Given the description of an element on the screen output the (x, y) to click on. 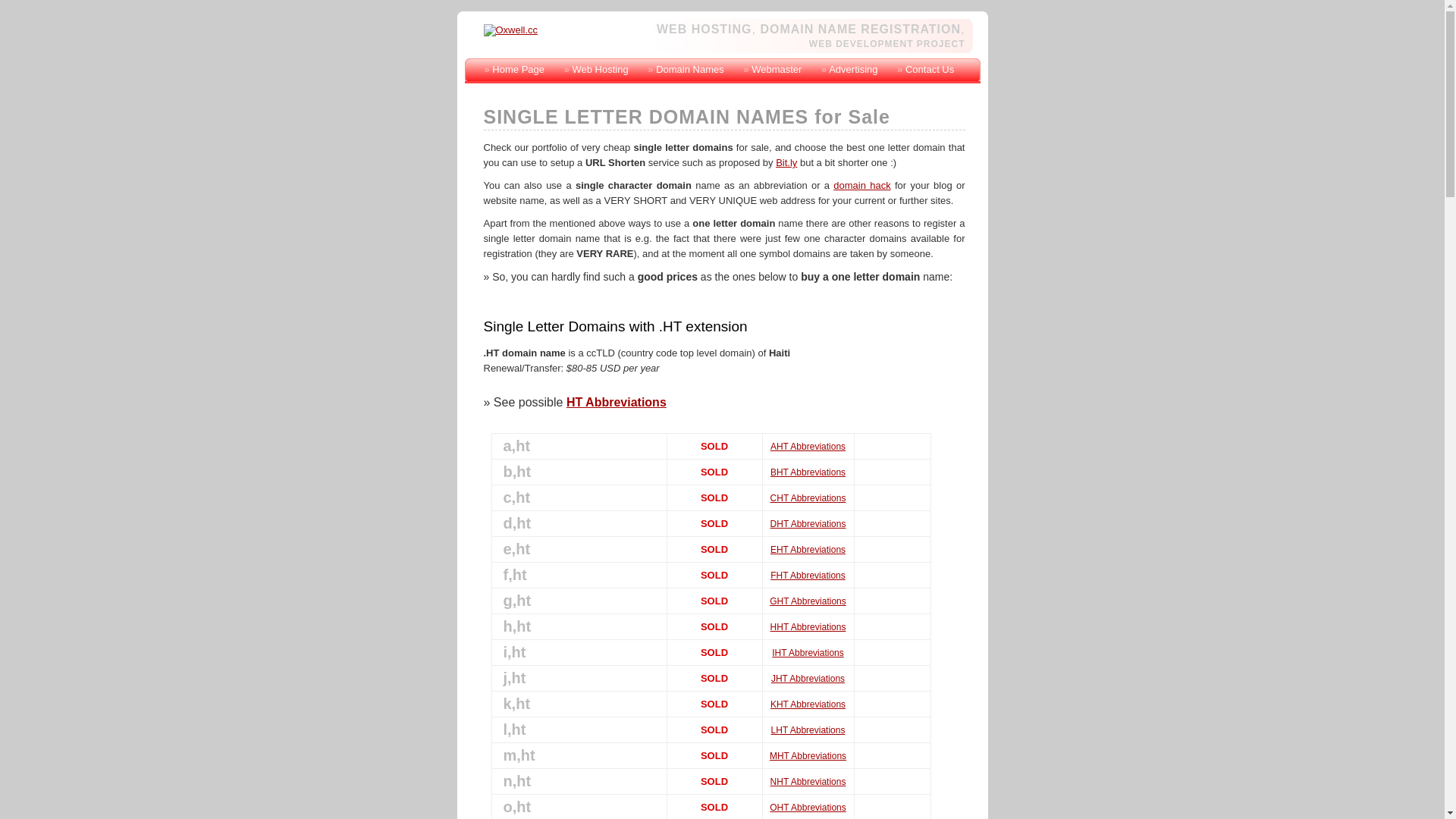
AHT Abbreviations Element type: text (807, 446)
HHT Abbreviations Element type: text (808, 626)
MHT Abbreviations Element type: text (807, 755)
HT Abbreviations Element type: text (616, 401)
BHT Abbreviations Element type: text (807, 472)
Bit.ly Element type: text (786, 162)
LHT Abbreviations Element type: text (808, 729)
Advertising Element type: text (852, 69)
Webmaster Element type: text (776, 69)
JHT Abbreviations Element type: text (807, 678)
OHT Abbreviations Element type: text (807, 807)
CHT Abbreviations Element type: text (808, 497)
GHT Abbreviations Element type: text (807, 601)
Web Hosting Element type: text (599, 69)
domain hack Element type: text (861, 185)
FHT Abbreviations Element type: text (807, 575)
IHT Abbreviations Element type: text (807, 652)
Contact Us Element type: text (929, 69)
DHT Abbreviations Element type: text (808, 523)
Home Page Element type: text (518, 69)
KHT Abbreviations Element type: text (807, 704)
EHT Abbreviations Element type: text (807, 549)
NHT Abbreviations Element type: text (808, 781)
Domain Names Element type: text (689, 69)
